Given the description of an element on the screen output the (x, y) to click on. 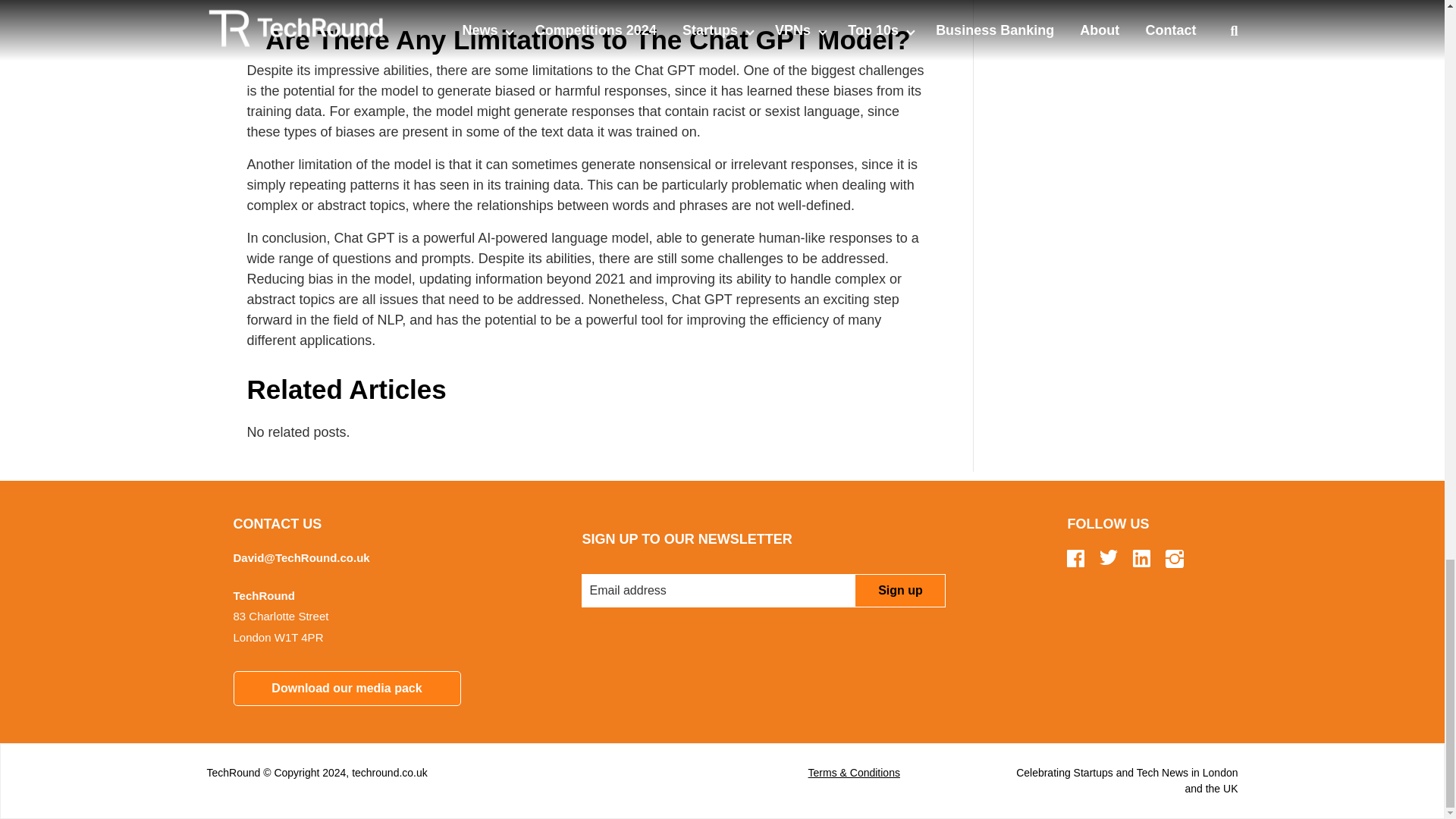
Sign up (899, 590)
Advertisement (1107, 57)
